Given the description of an element on the screen output the (x, y) to click on. 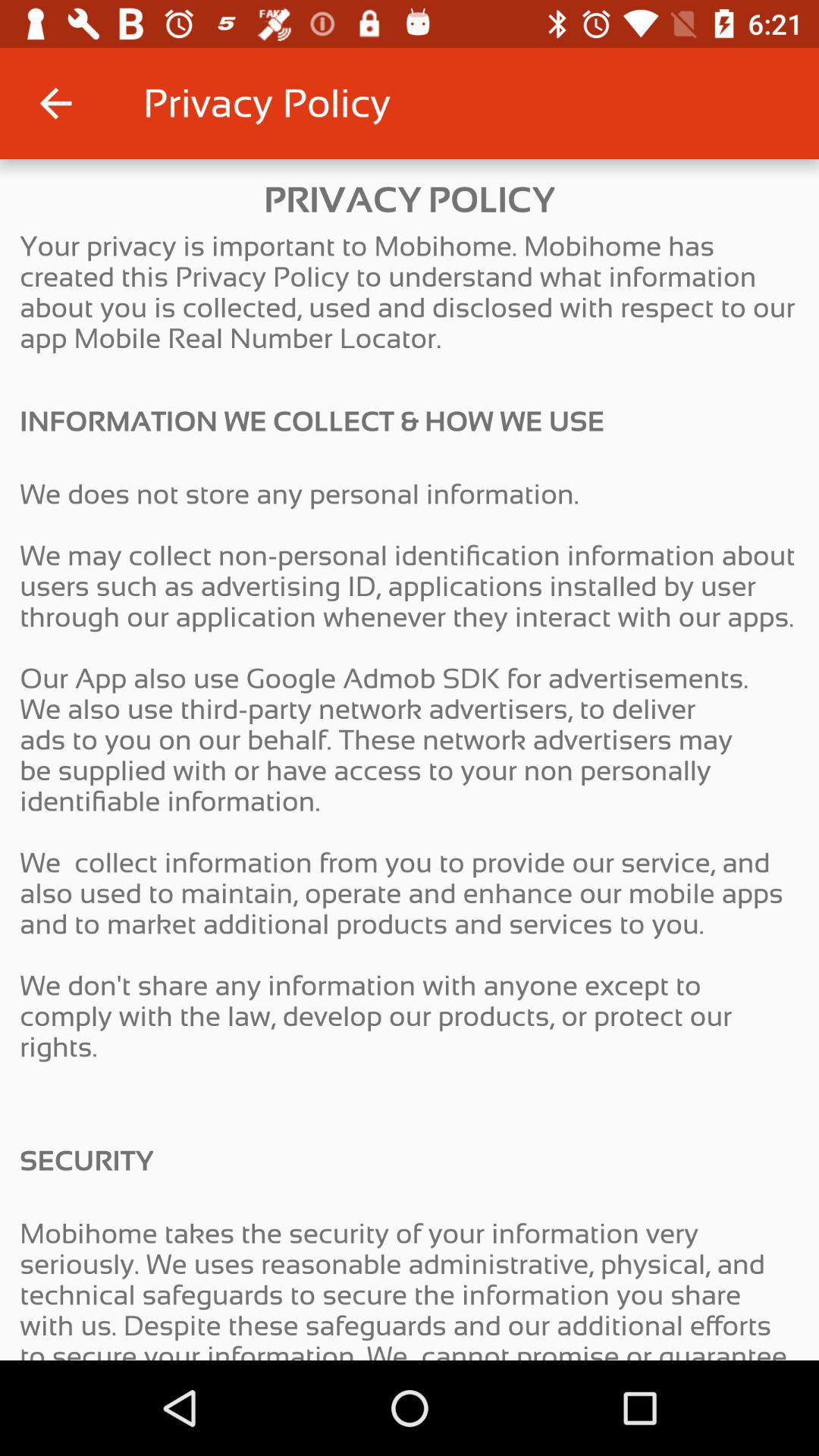
choose the app next to the privacy policy app (55, 103)
